Given the description of an element on the screen output the (x, y) to click on. 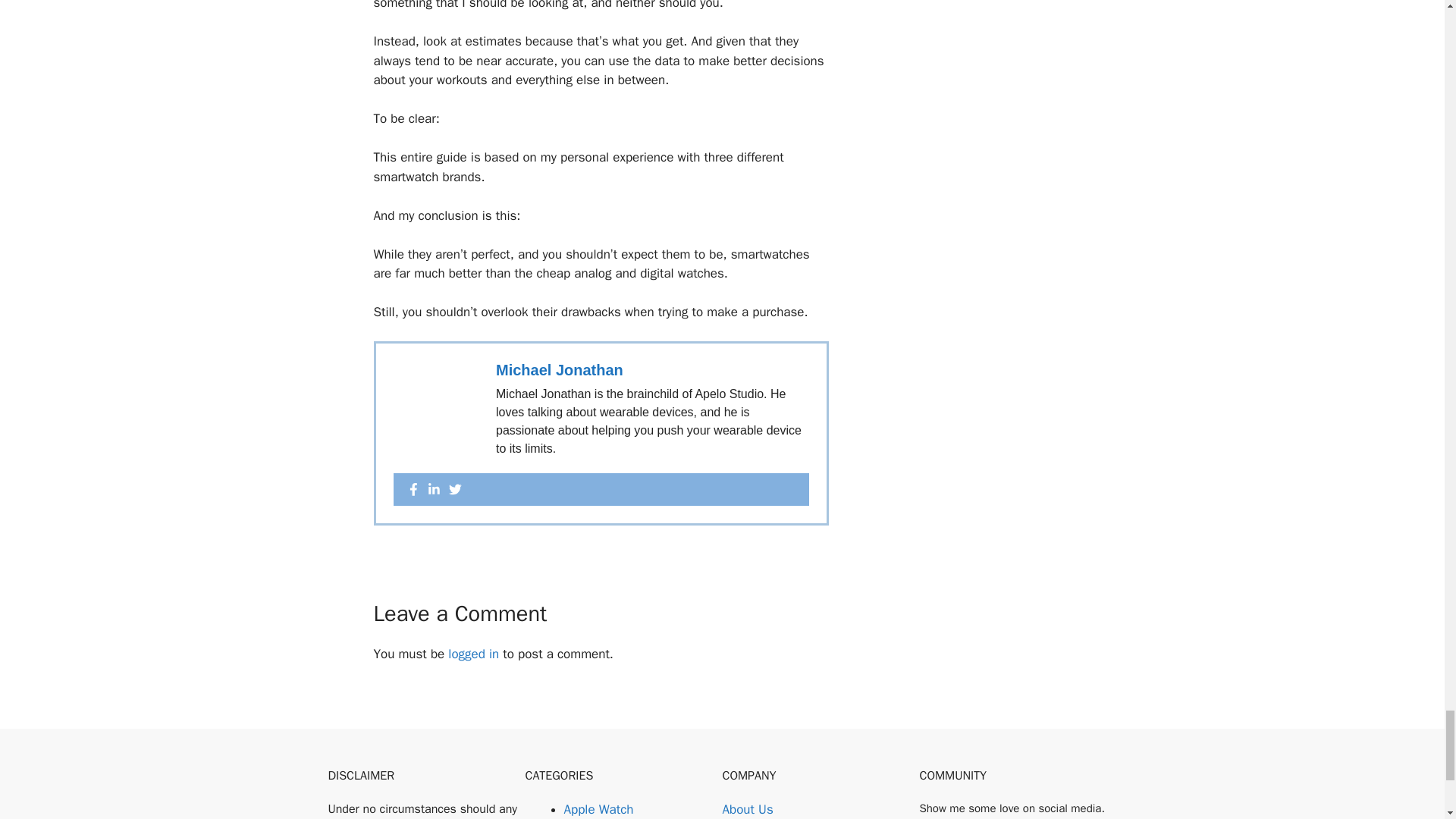
Apple Watch (598, 809)
Michael Jonathan (559, 369)
About Us (747, 809)
logged in (473, 653)
